Given the description of an element on the screen output the (x, y) to click on. 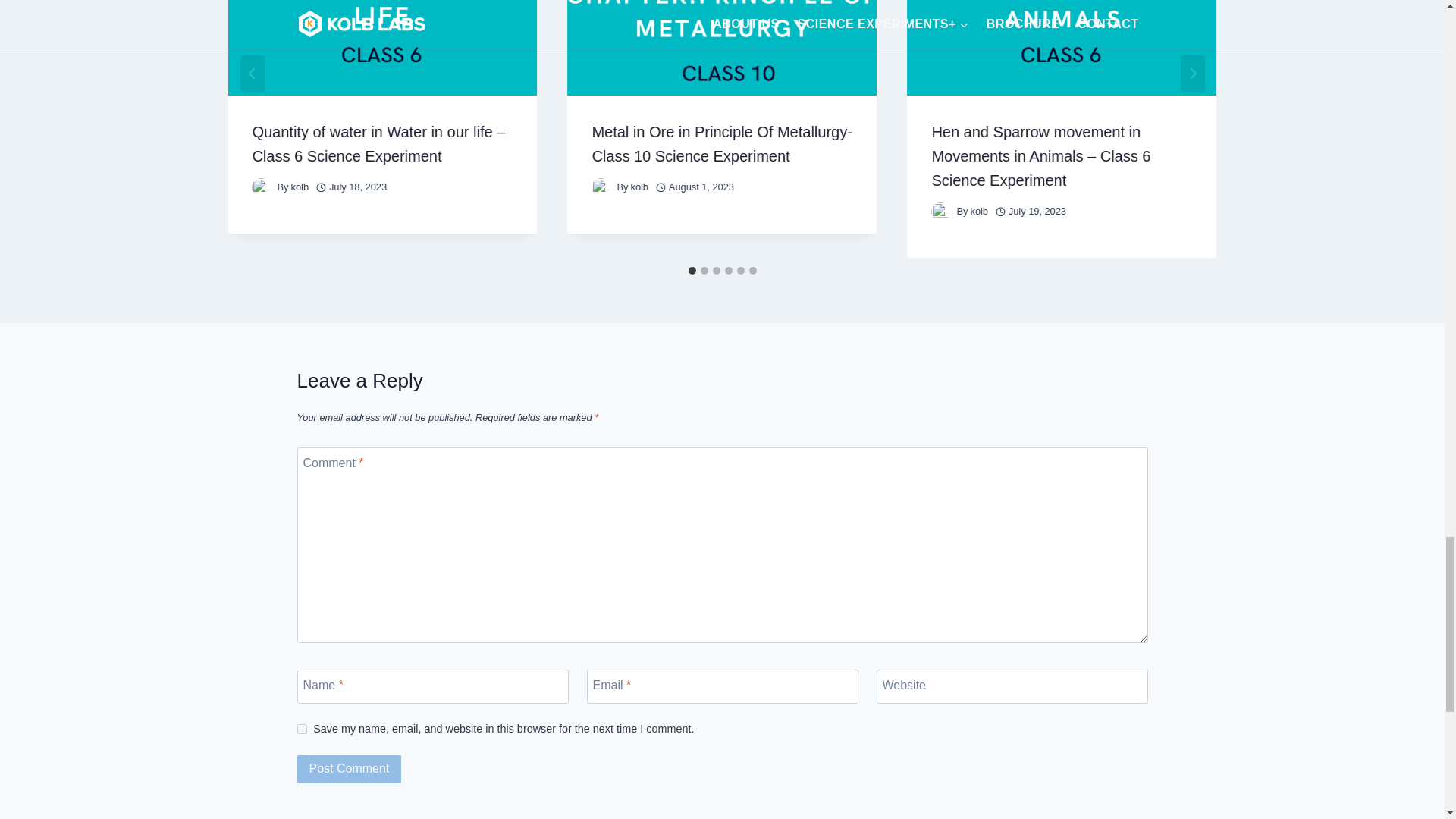
Post Comment (349, 768)
yes (302, 728)
